Given the description of an element on the screen output the (x, y) to click on. 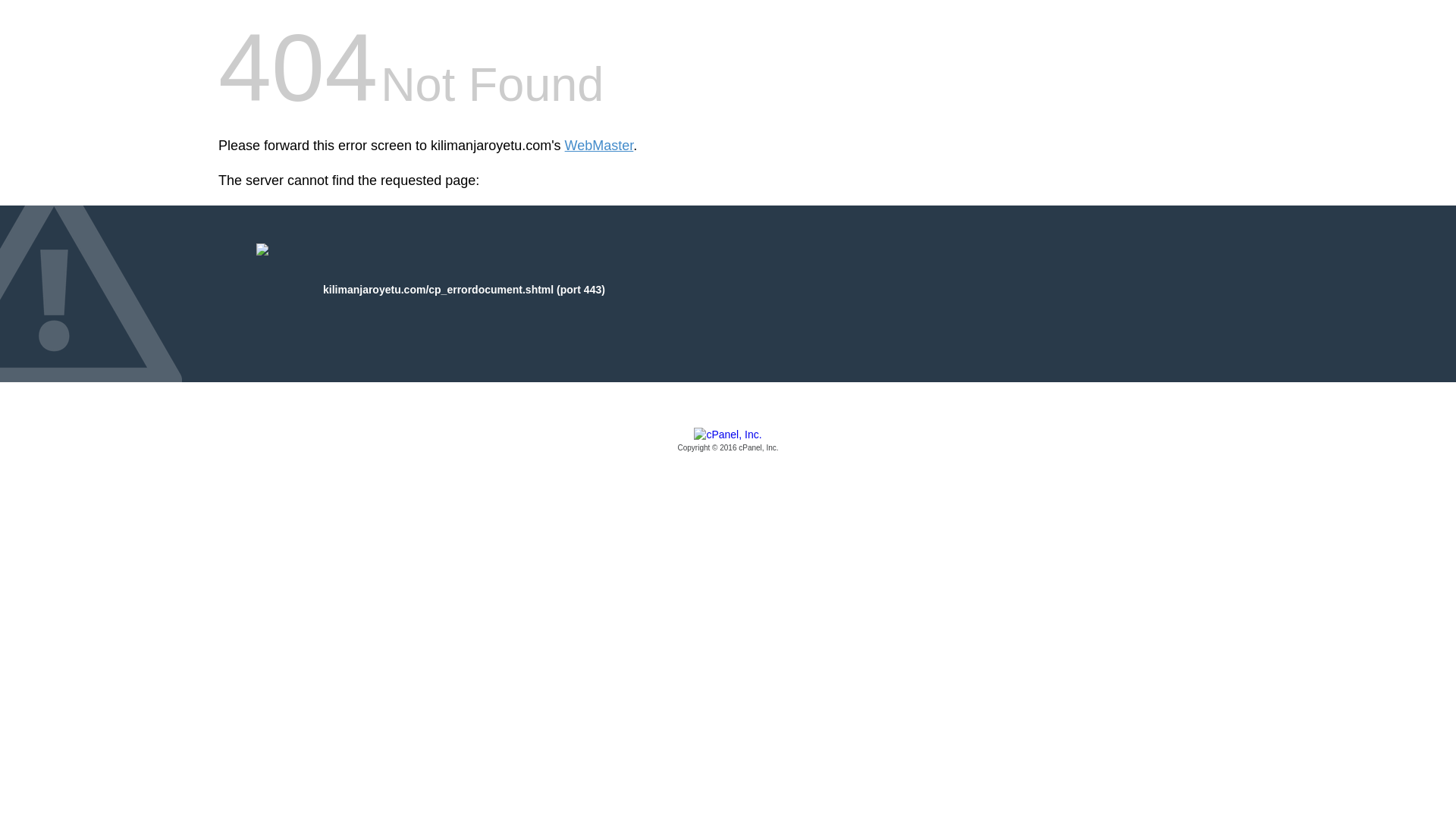
cPanel, Inc. (727, 440)
WebMaster (598, 145)
